Given the description of an element on the screen output the (x, y) to click on. 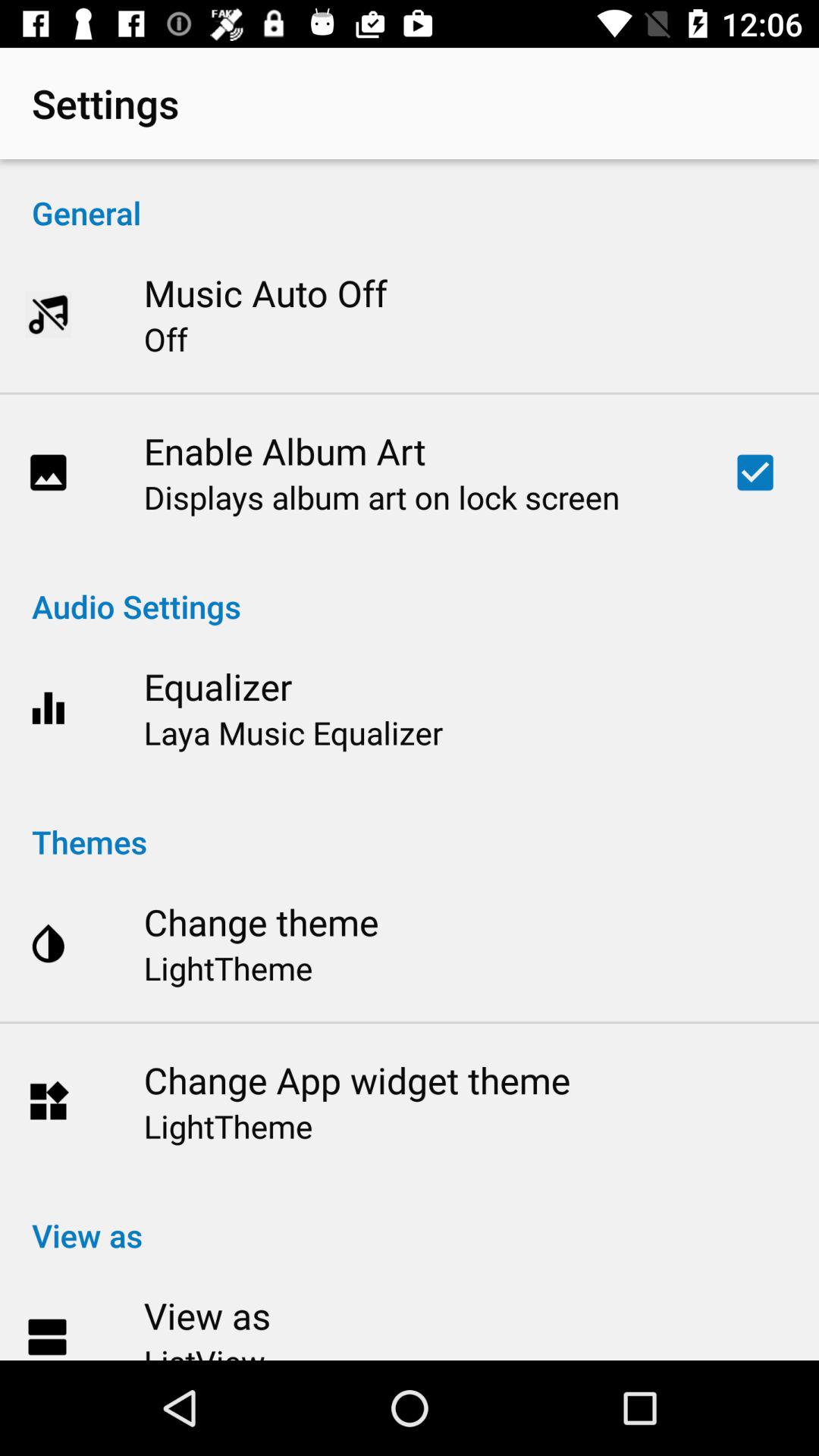
flip to the themes icon (409, 825)
